Given the description of an element on the screen output the (x, y) to click on. 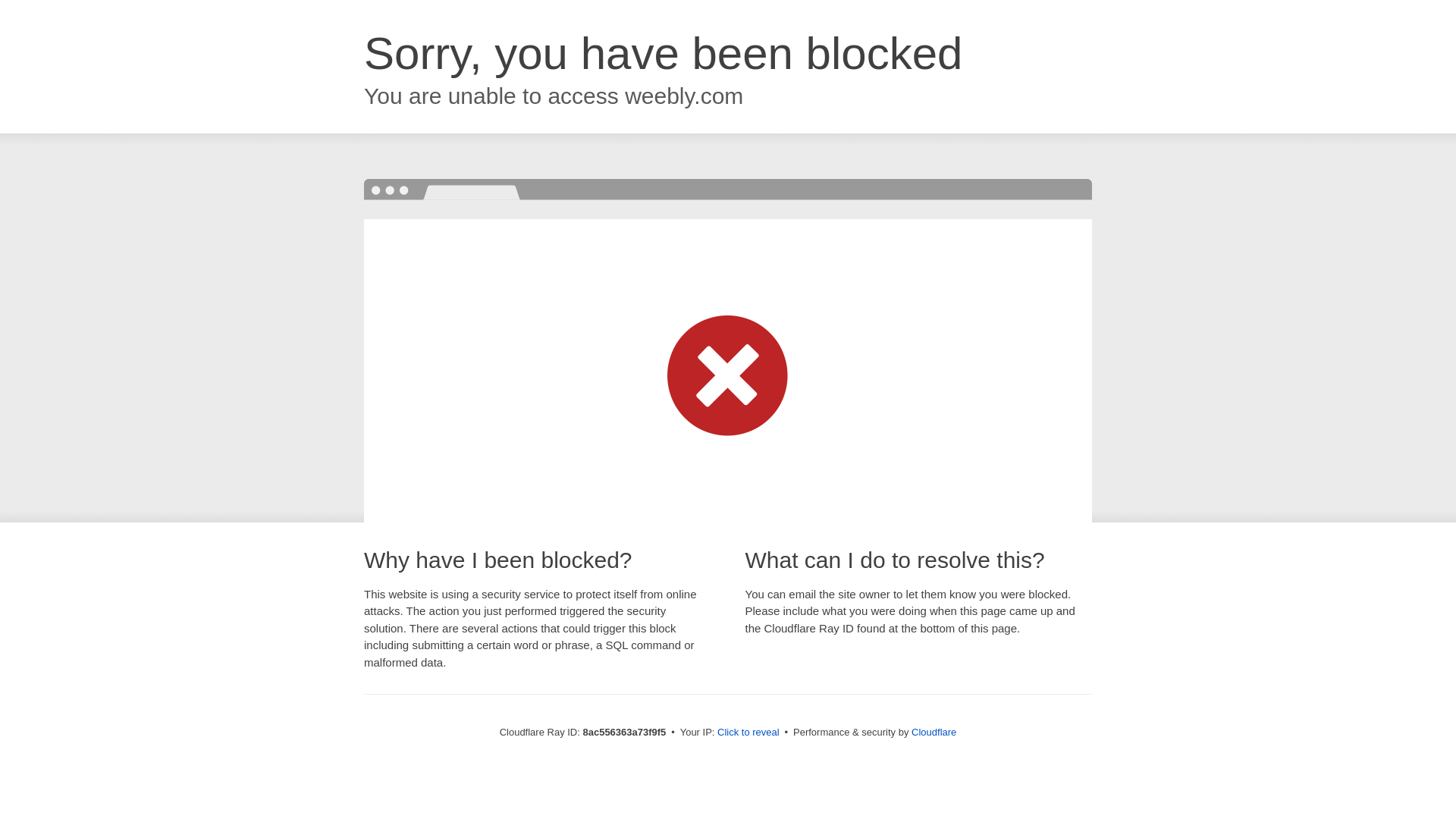
Cloudflare (933, 731)
Click to reveal (747, 732)
